Given the description of an element on the screen output the (x, y) to click on. 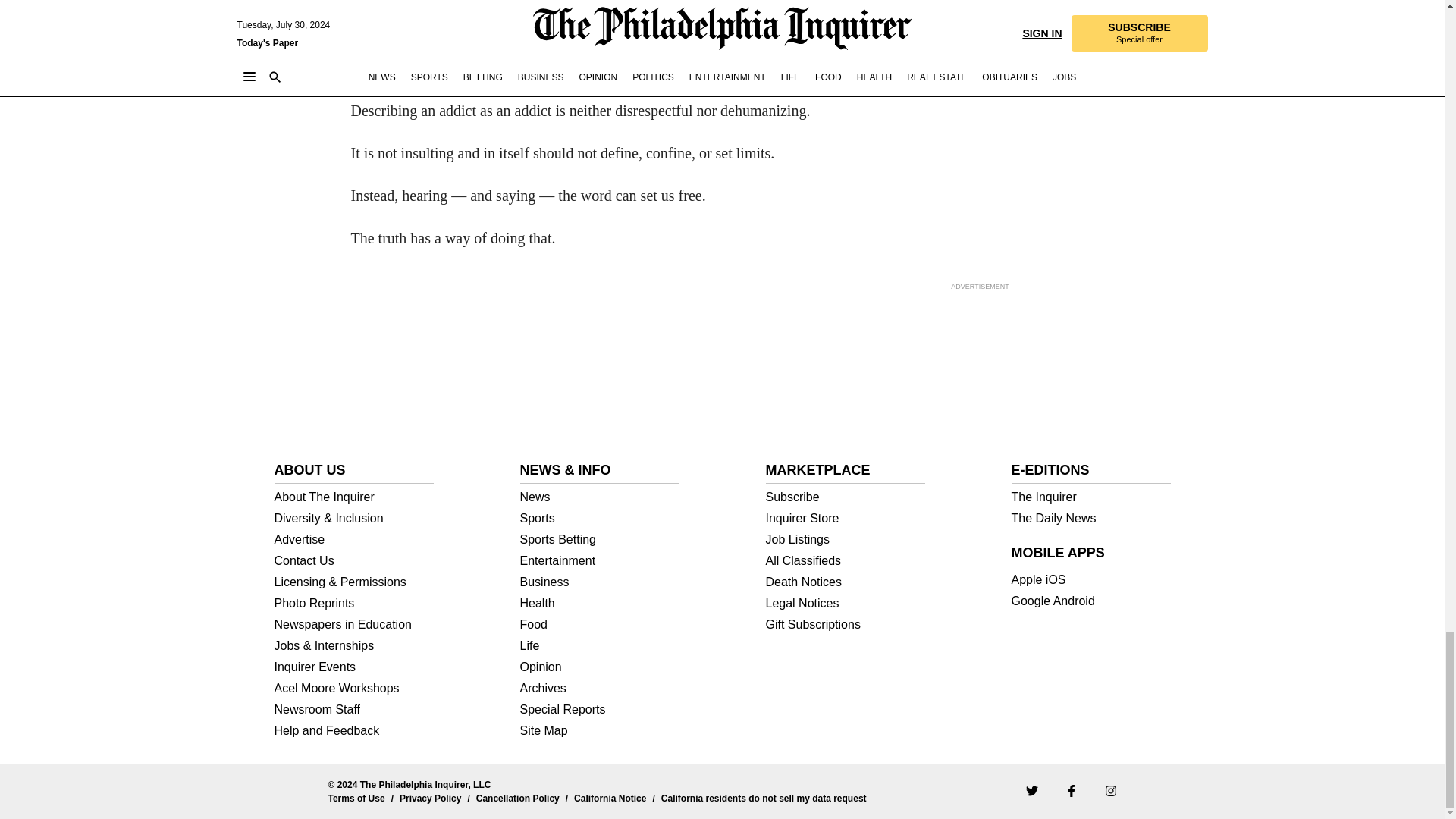
About The Inquirer (354, 497)
Facebook (1070, 790)
Twitter (1030, 790)
Instagram (1109, 790)
